Given the description of an element on the screen output the (x, y) to click on. 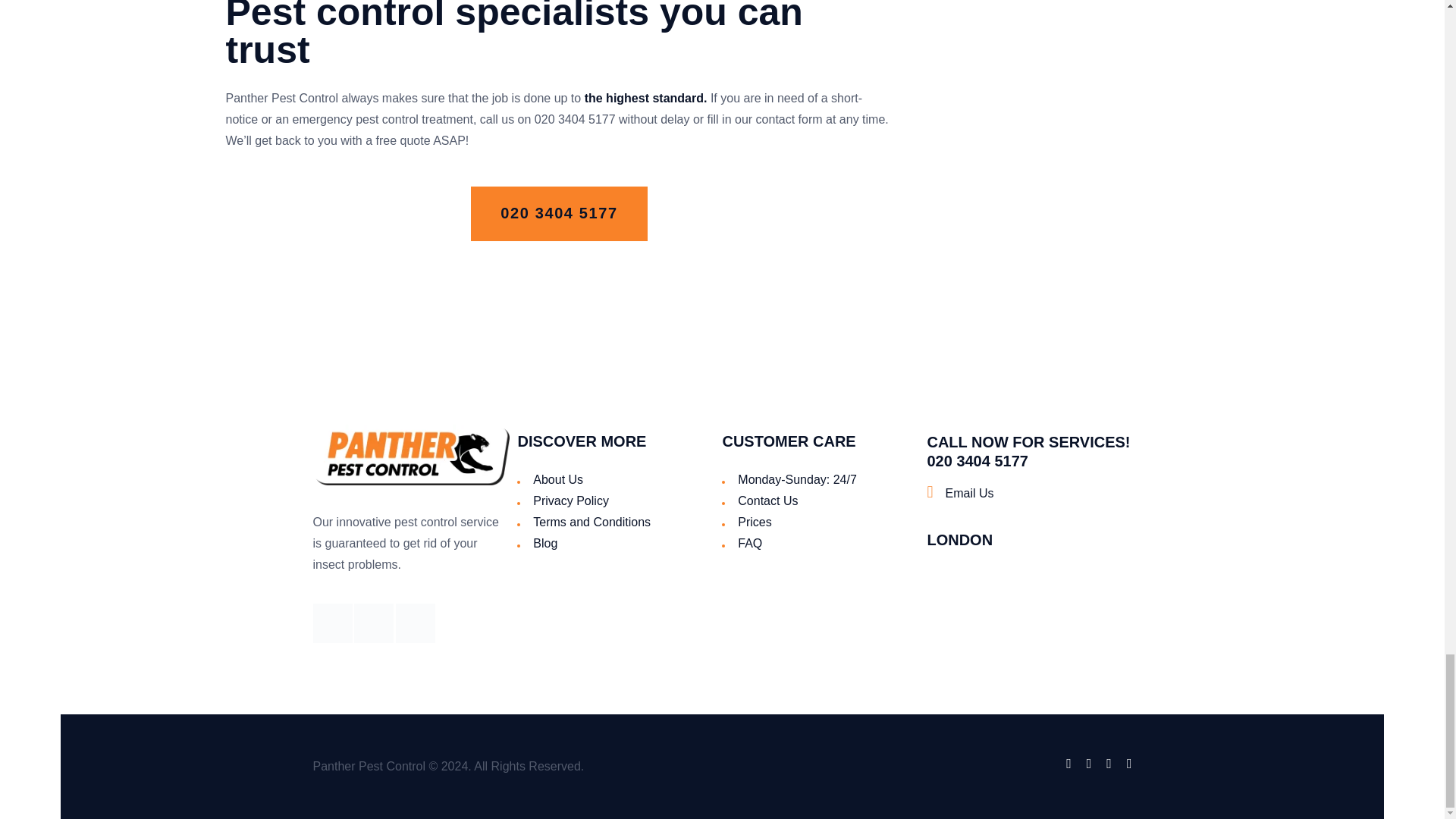
Call Us Now (574, 119)
